Given the description of an element on the screen output the (x, y) to click on. 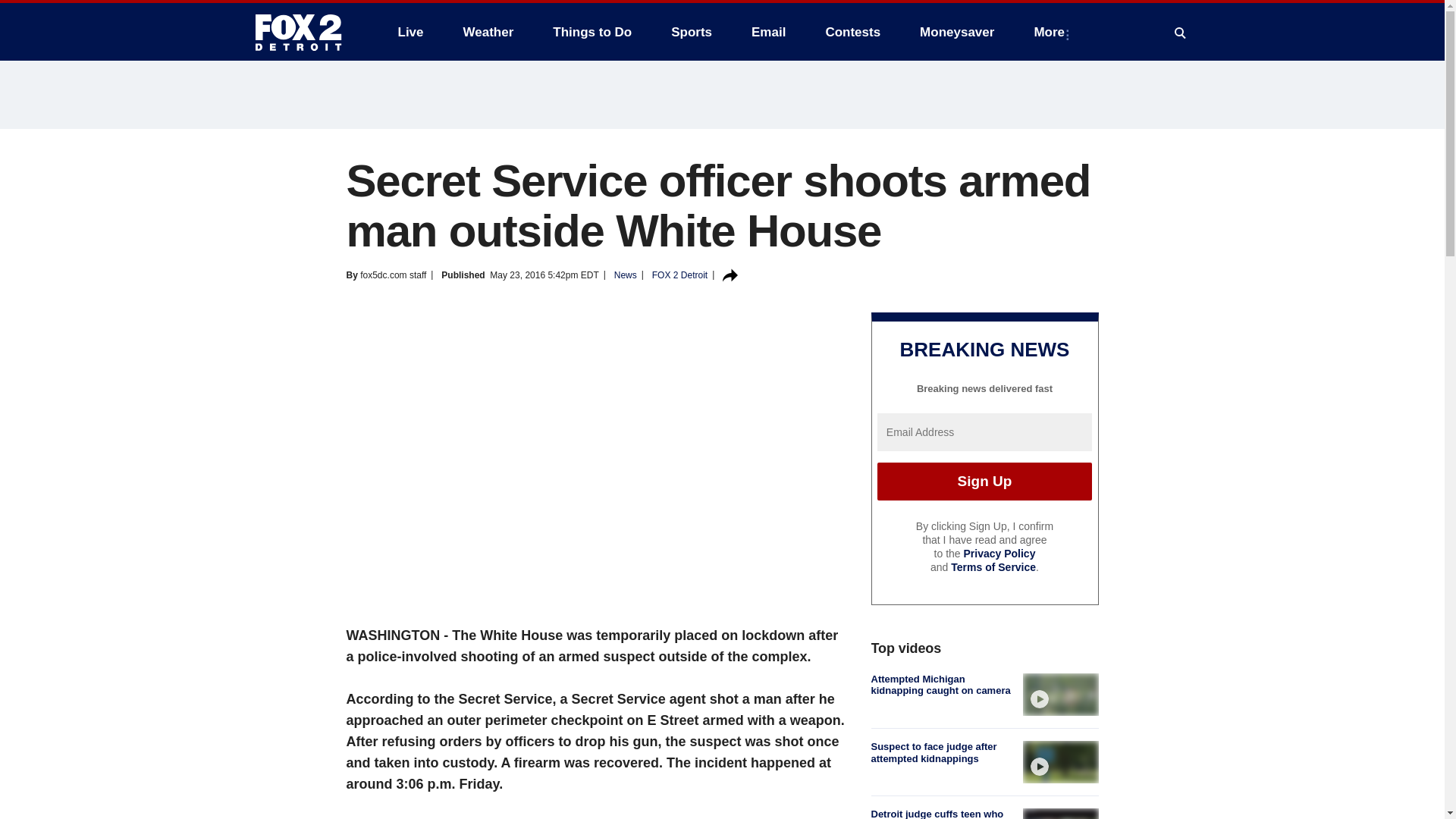
Sports (691, 32)
Weather (488, 32)
Moneysaver (956, 32)
Contests (852, 32)
Live (410, 32)
More (1052, 32)
Sign Up (984, 481)
Email (768, 32)
Things to Do (591, 32)
